Given the description of an element on the screen output the (x, y) to click on. 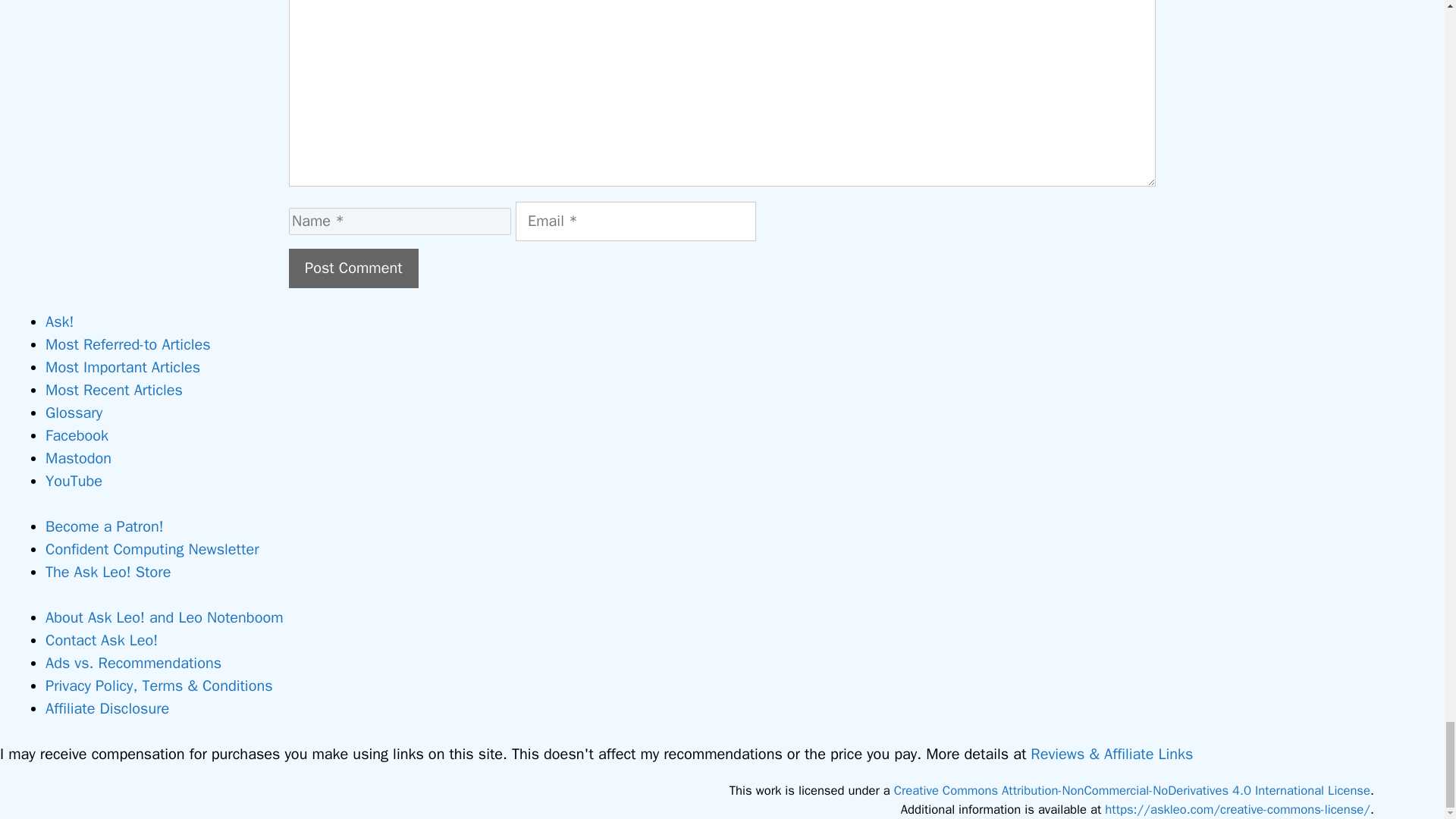
Post Comment (353, 268)
